Given the description of an element on the screen output the (x, y) to click on. 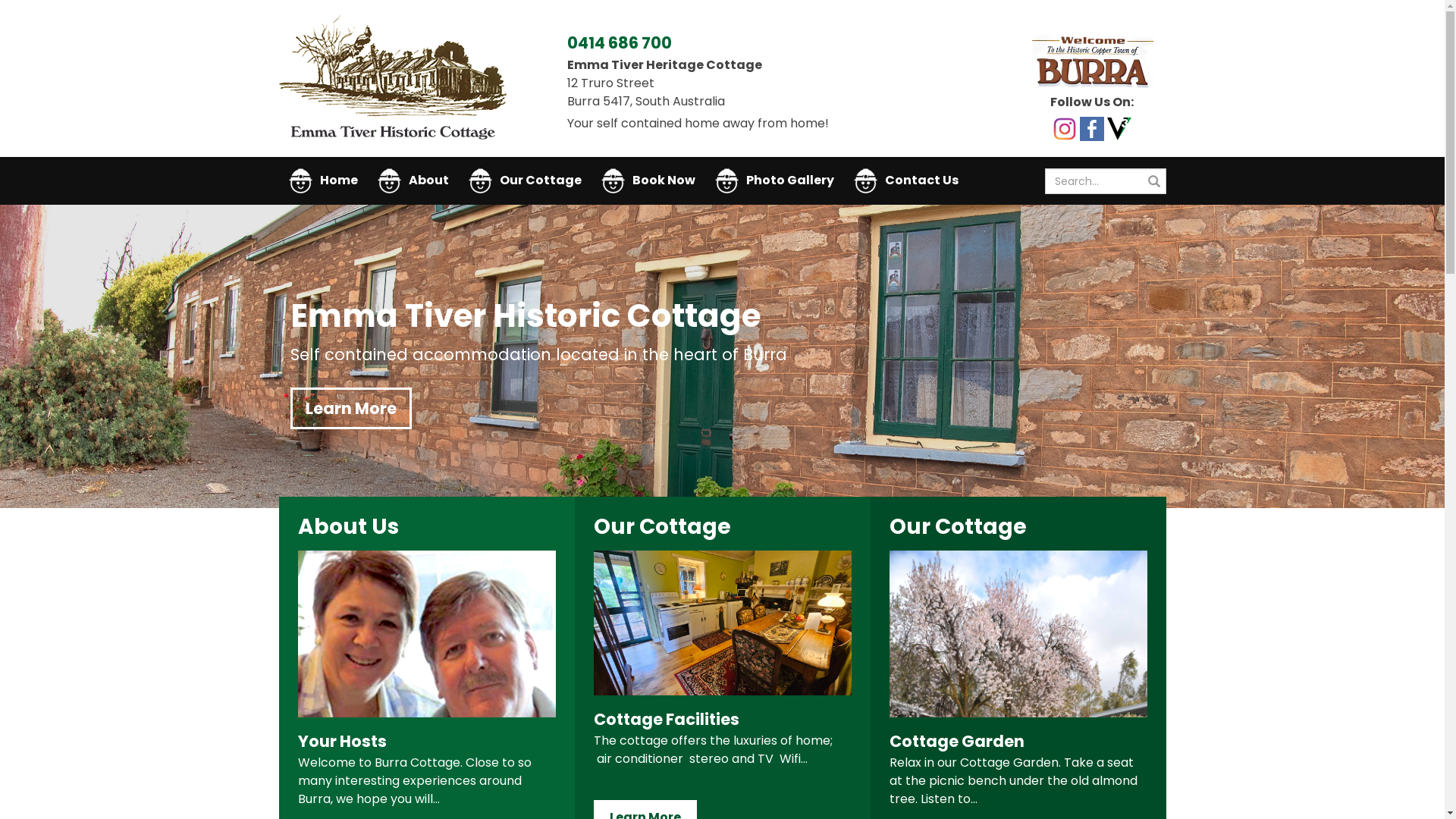
About Element type: text (412, 180)
Learn More Element type: text (350, 408)
Book Now Element type: text (648, 180)
Home
(current) Element type: text (323, 180)
Contact Us Element type: text (905, 180)
Our Cottage Element type: text (524, 180)
Photo Gallery Element type: text (774, 180)
